Given the description of an element on the screen output the (x, y) to click on. 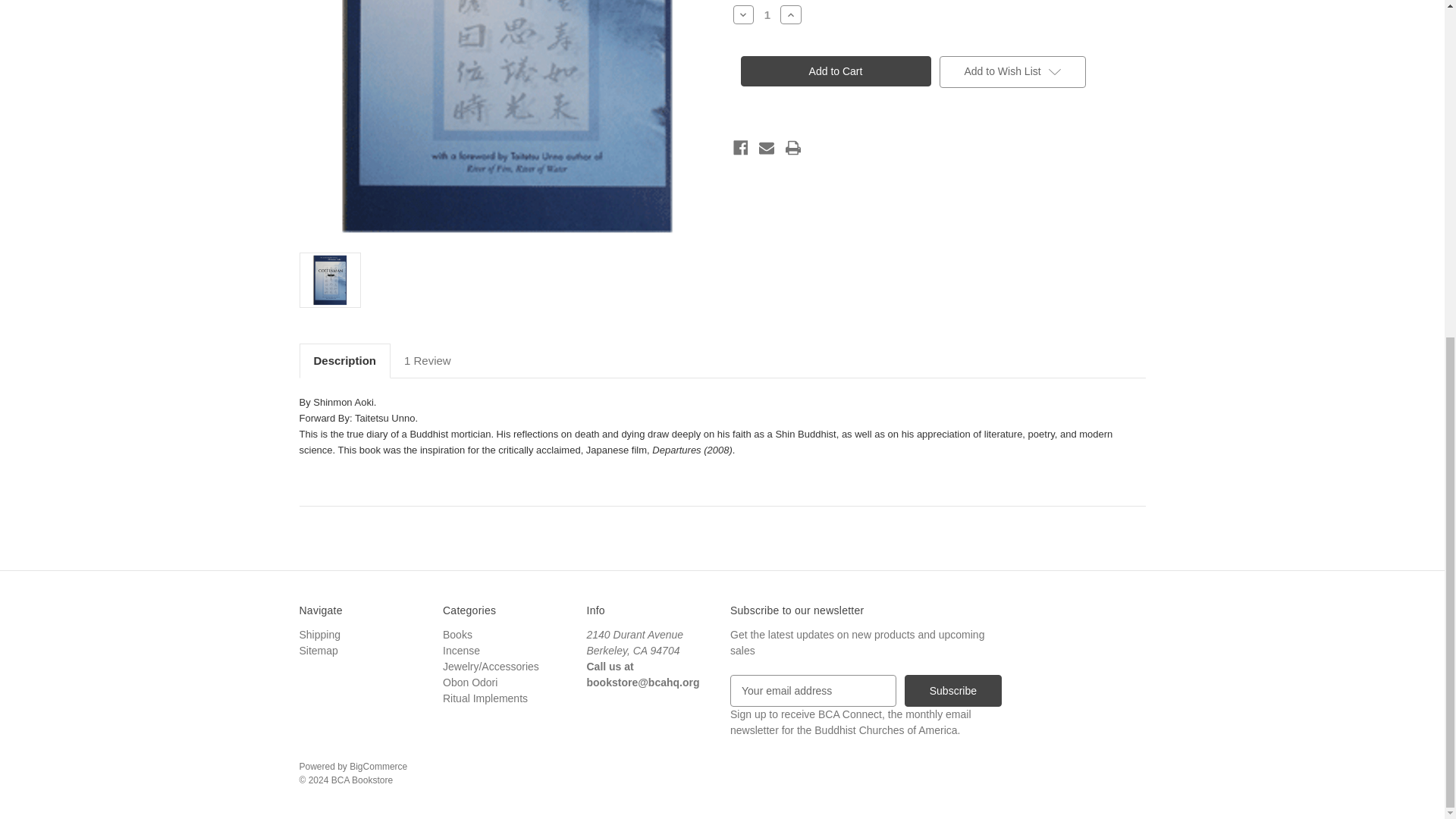
Coffinman: The Journal of Buddhist Mortician (504, 120)
1 (767, 14)
Subscribe (952, 690)
Add to Cart (834, 71)
